Given the description of an element on the screen output the (x, y) to click on. 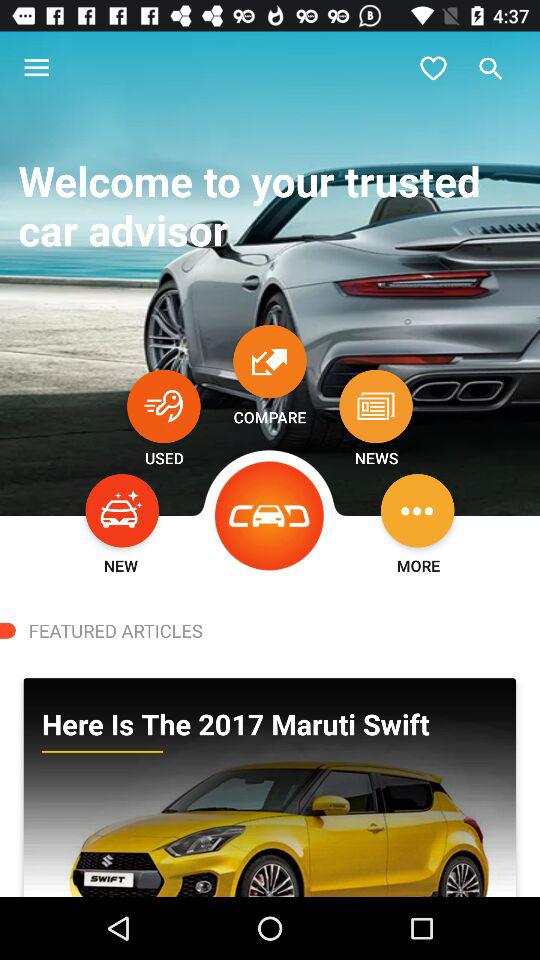
turn off the item above more (417, 510)
